Given the description of an element on the screen output the (x, y) to click on. 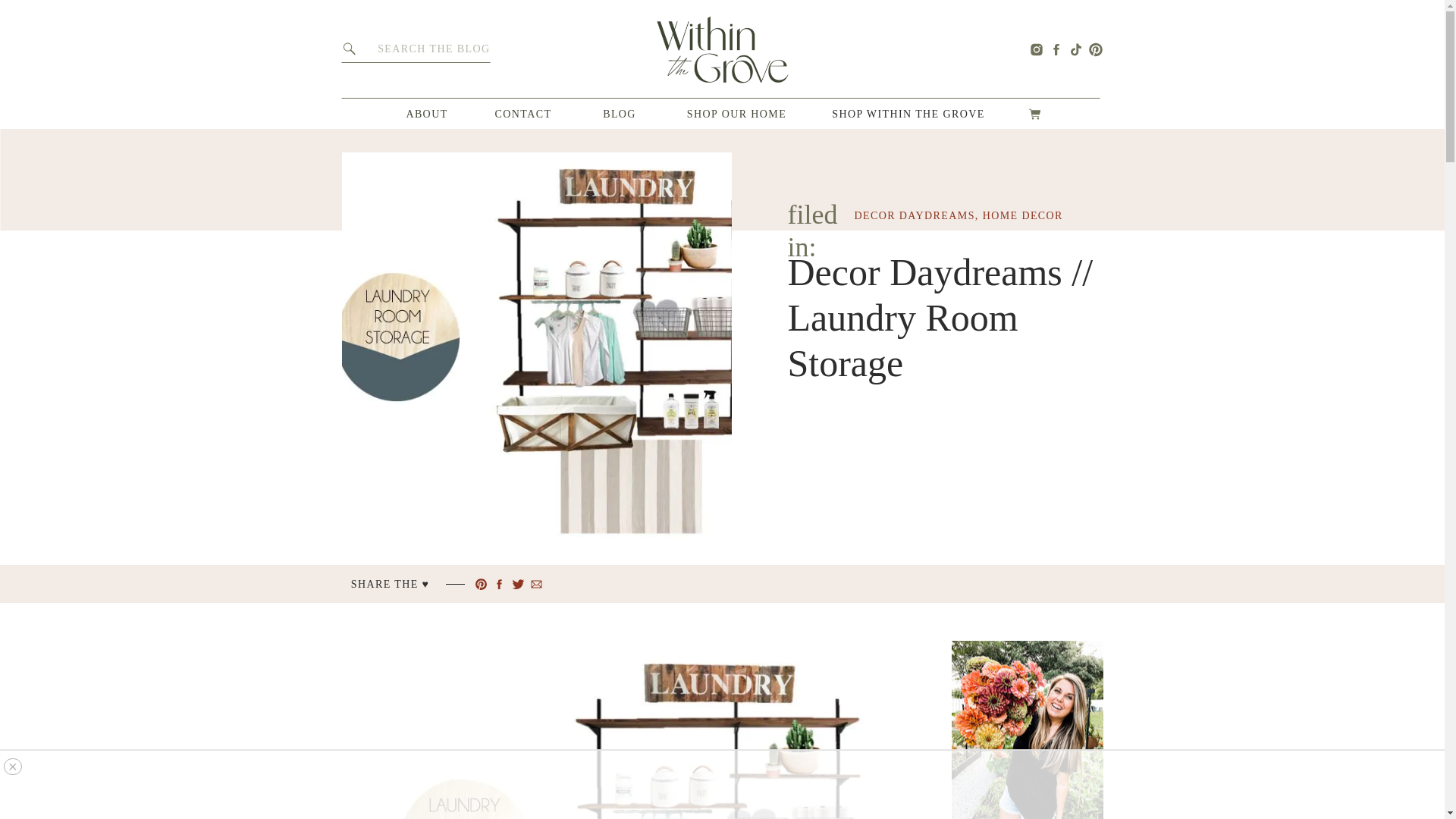
DECOR DAYDREAMS (913, 215)
SHOP WITHIN THE GROVE (908, 113)
BLOG (618, 113)
CONTACT (524, 113)
HOME DECOR (1022, 215)
SHOP OUR HOME (737, 113)
ABOUT (427, 113)
